Given the description of an element on the screen output the (x, y) to click on. 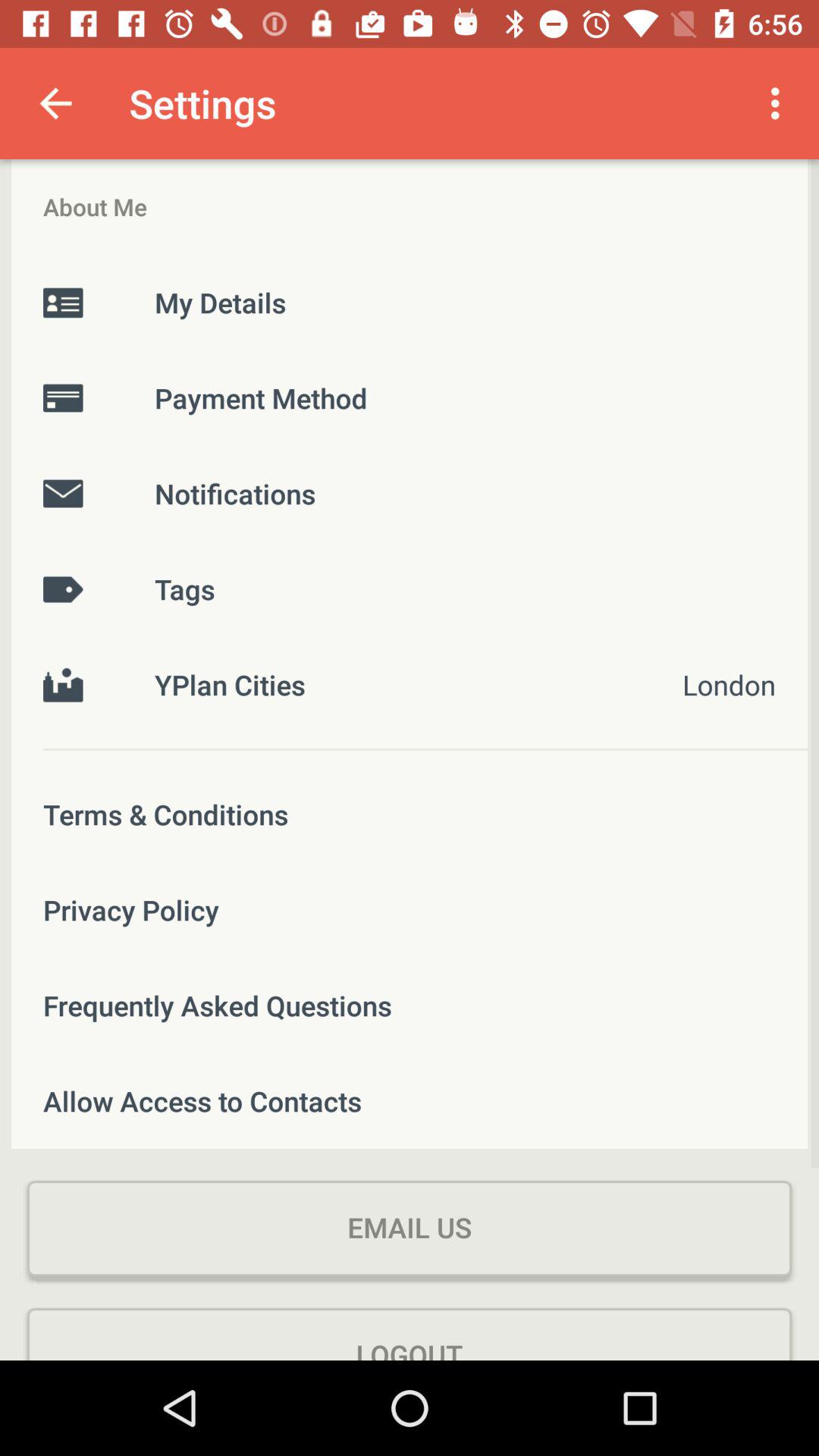
scroll to payment method item (409, 397)
